Given the description of an element on the screen output the (x, y) to click on. 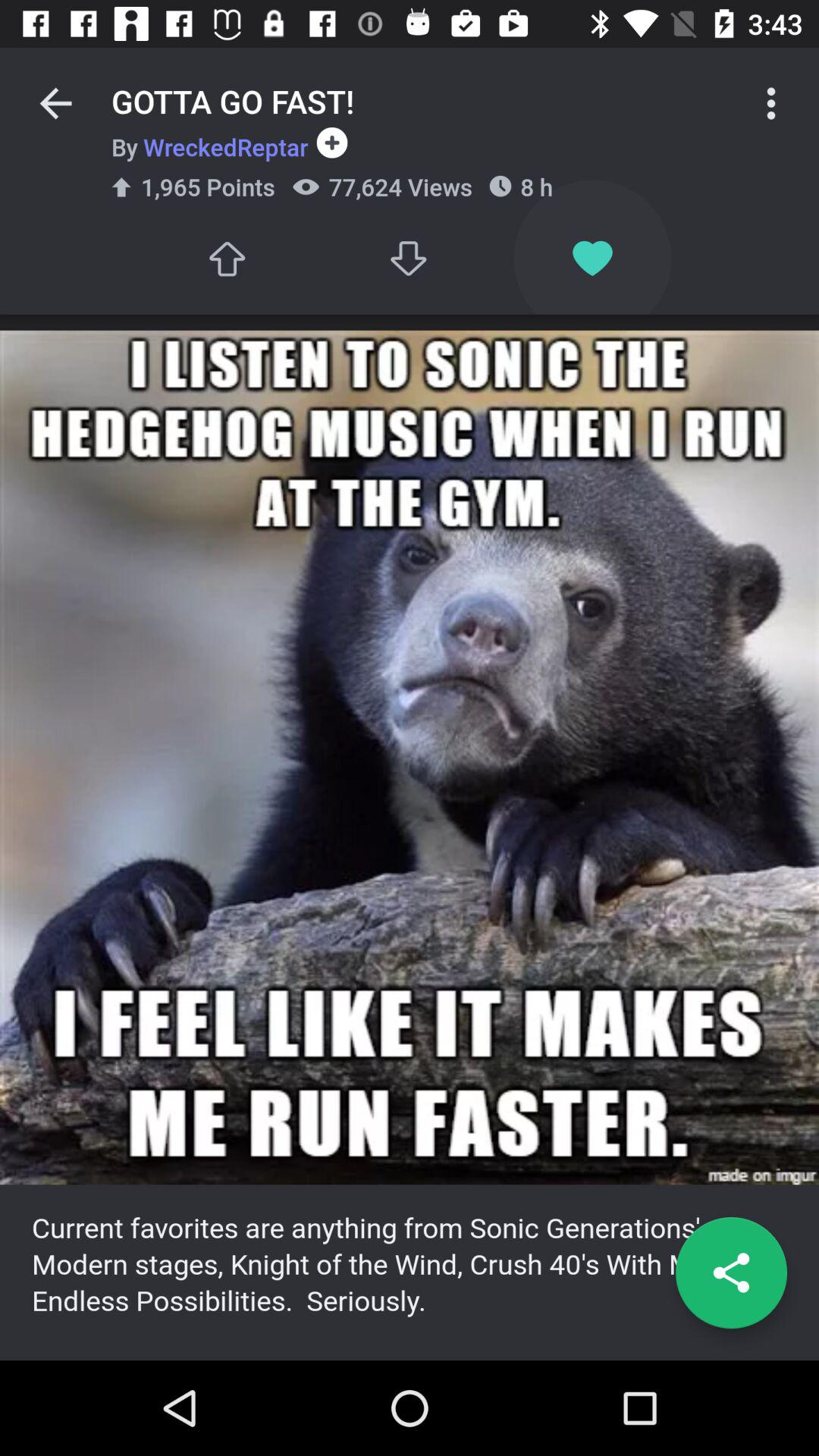
choose the icon to the right of by wreckedreptar item (328, 142)
